Given the description of an element on the screen output the (x, y) to click on. 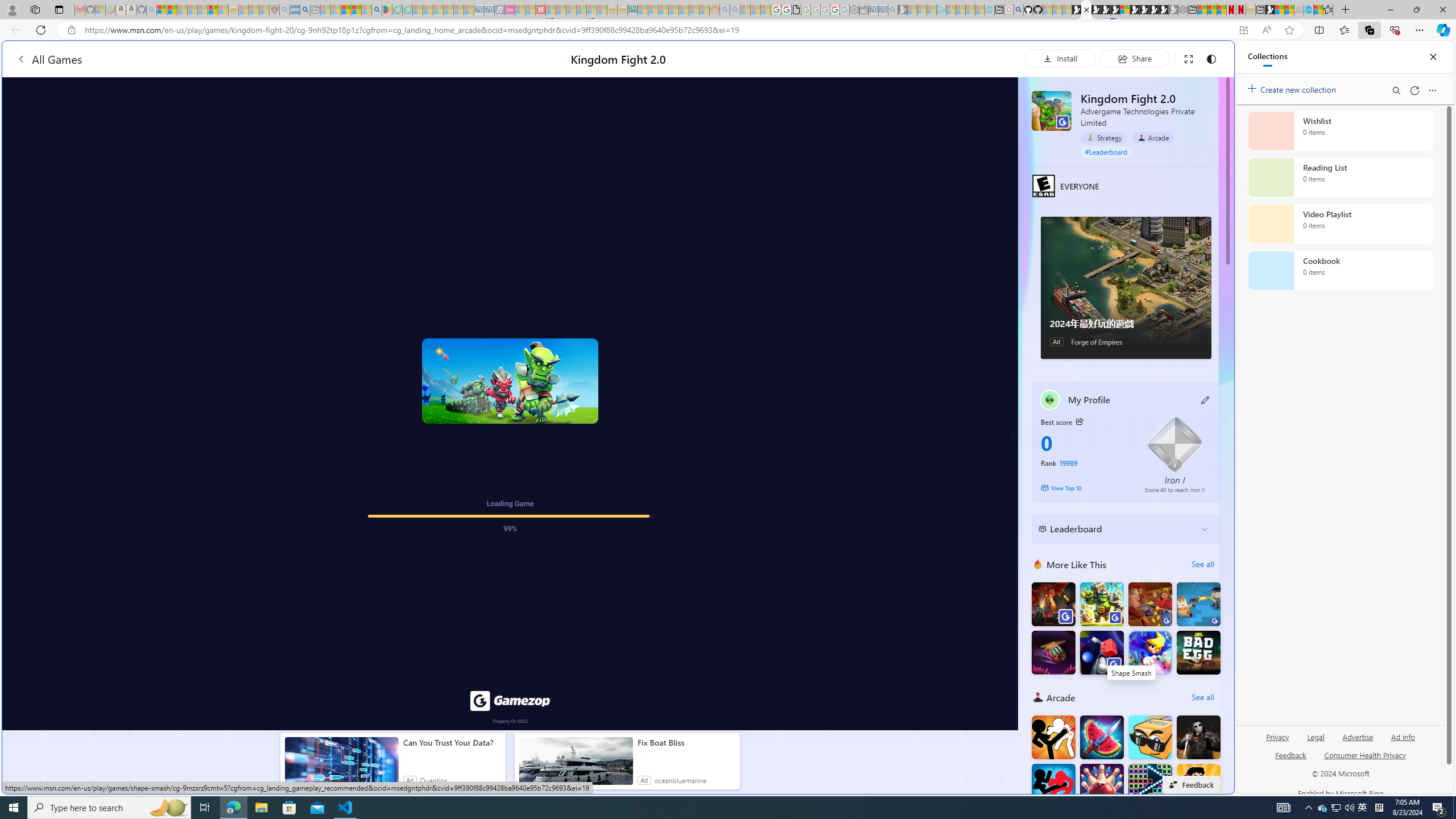
Earth has six continents not seven, radical new study claims (1288, 9)
Class: style-module_loader_image__6-vLu (510, 380)
Class: button (1079, 421)
Strategy (1103, 137)
